Given the description of an element on the screen output the (x, y) to click on. 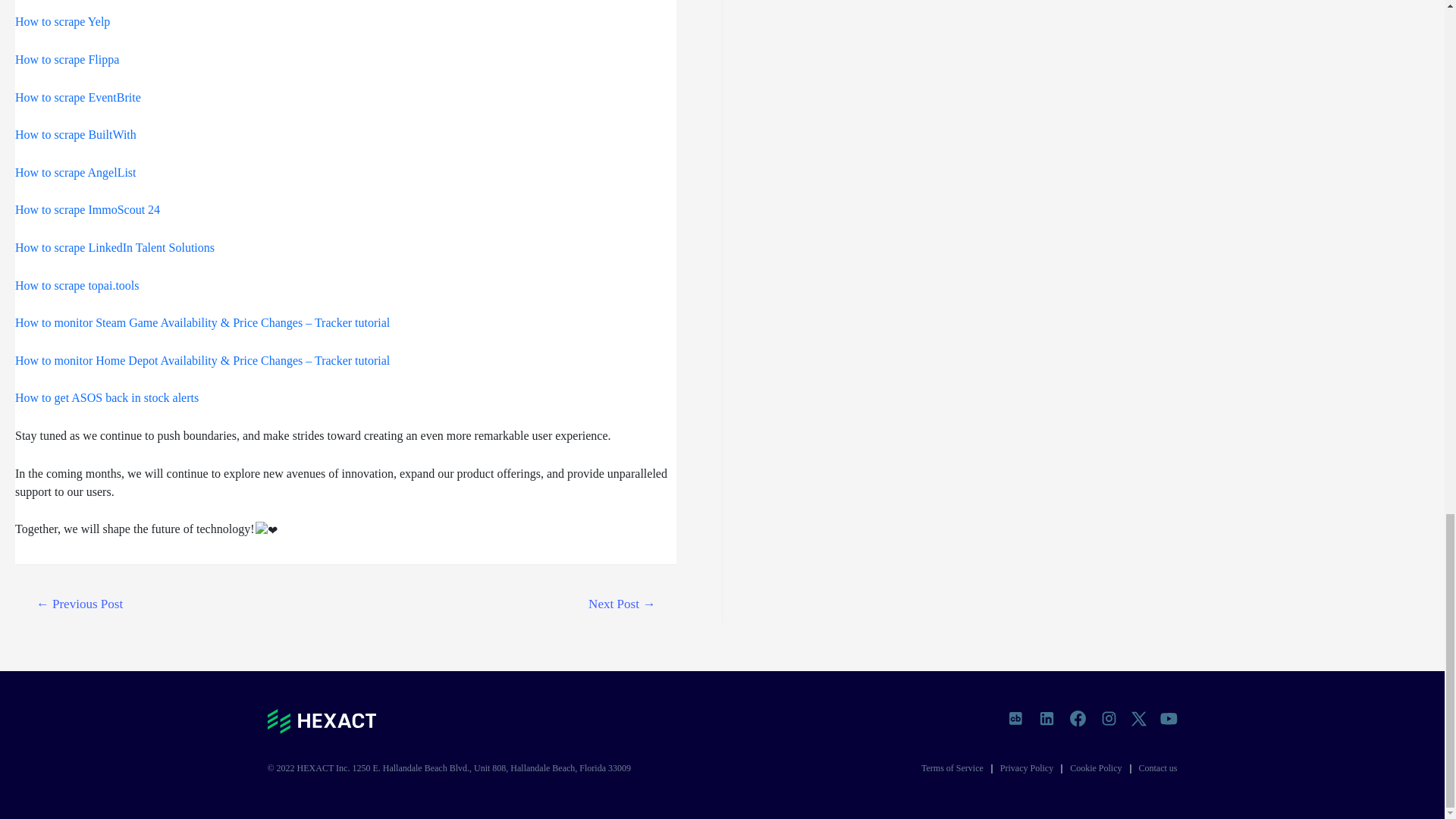
How to scrape Yelp (62, 21)
How to scrape BuiltWith (75, 133)
How to scrape ImmoScout 24 (87, 209)
How to scrape EventBrite (77, 96)
How to scrape AngelList (75, 172)
How to scrape Flippa (66, 59)
